Given the description of an element on the screen output the (x, y) to click on. 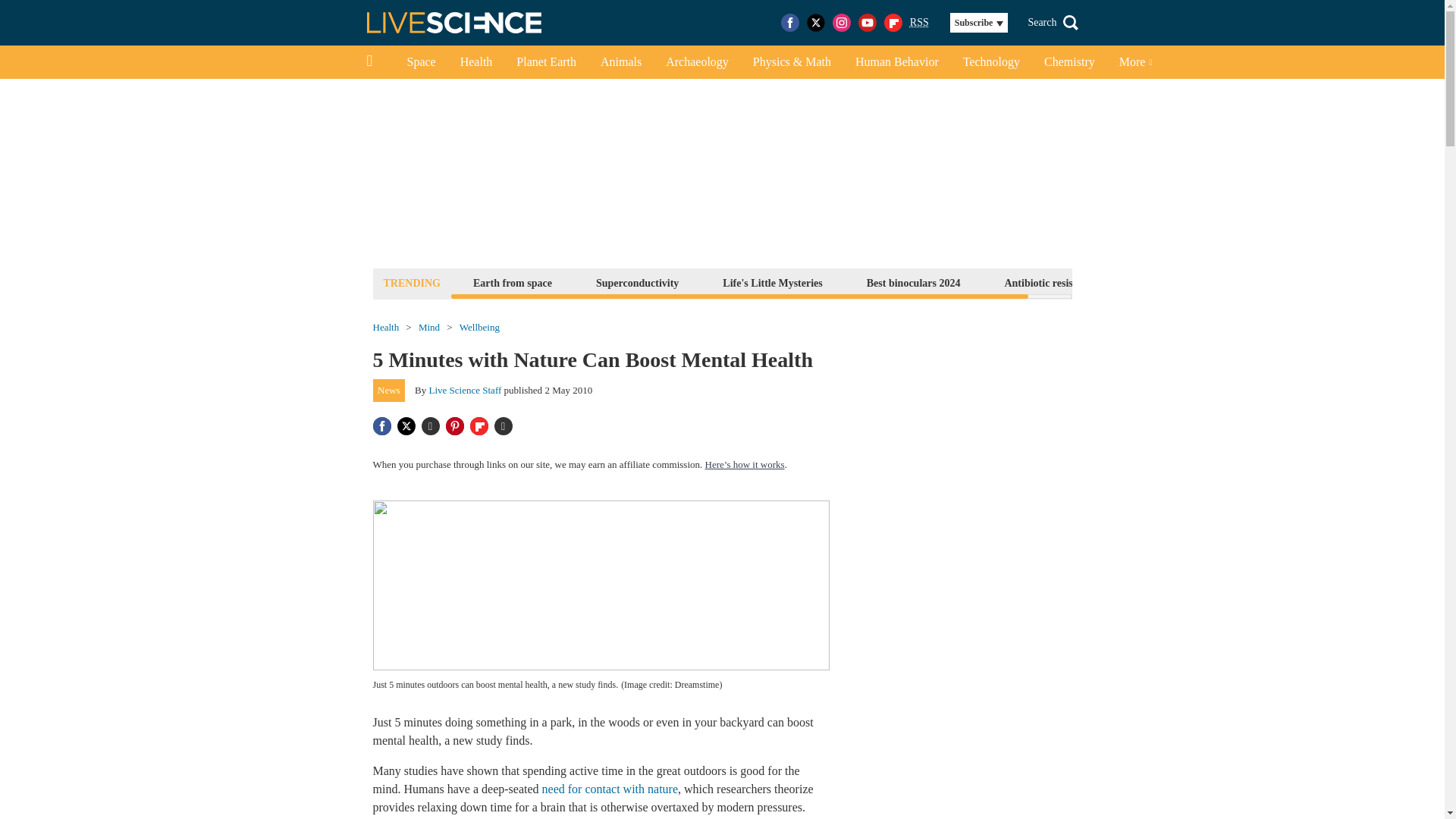
Human Behavior (896, 61)
Space (420, 61)
Best binoculars 2024 (913, 282)
Animals (620, 61)
Chemistry (1069, 61)
Antibiotic resistance (1050, 282)
Health (476, 61)
Really Simple Syndication (919, 21)
Archaeology (697, 61)
Wellbeing (479, 327)
